Given the description of an element on the screen output the (x, y) to click on. 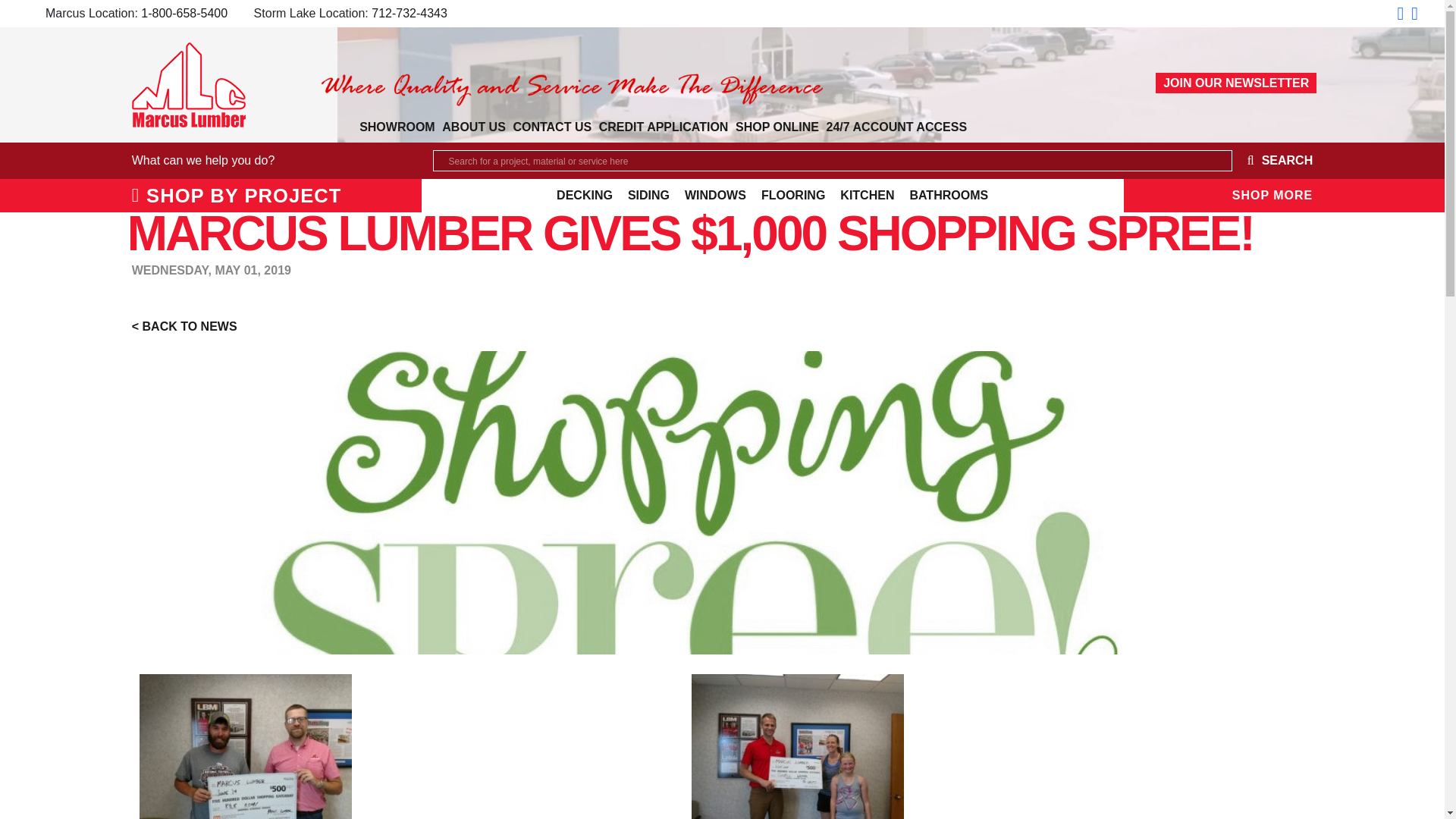
ABOUT US (473, 126)
FLOORING (793, 195)
SHOP MORE (1272, 195)
BATHROOMS (945, 195)
CONTACT US (552, 126)
SEARCH (1272, 160)
SHOP ONLINE (777, 126)
SHOWROOM (396, 126)
712-732-4343 (408, 12)
JOIN OUR NEWSLETTER (1236, 82)
CREDIT APPLICATION (663, 126)
WINDOWS (715, 195)
SIDING (648, 195)
1-800-658-5400 (184, 12)
KITCHEN (866, 195)
